Given the description of an element on the screen output the (x, y) to click on. 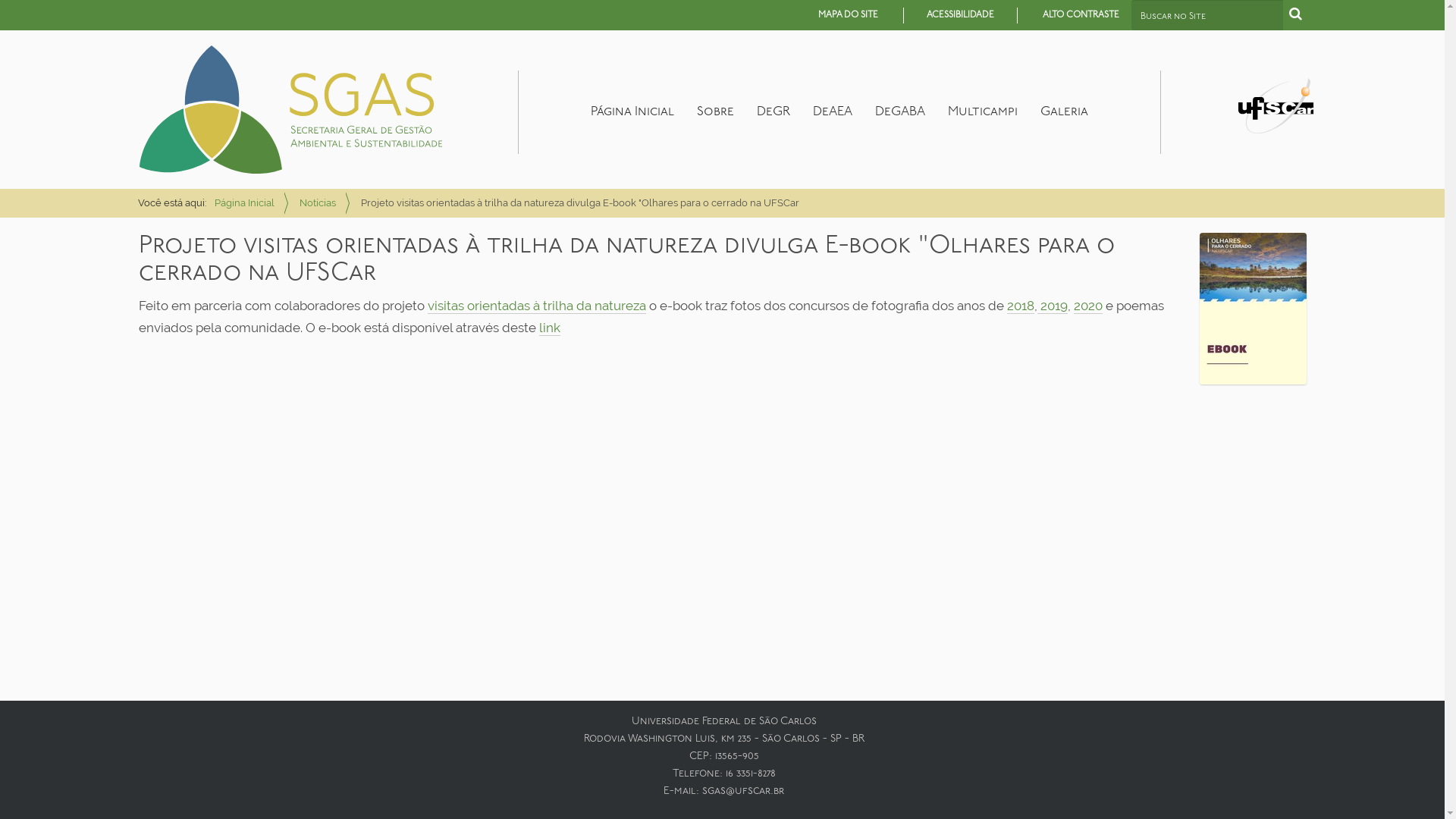
2019 Element type: text (1052, 305)
ALTO CONTRASTE Element type: text (1079, 14)
2018 Element type: text (1020, 305)
Portal UFSCar Element type: hover (1275, 104)
Buscar no Site Element type: hover (1207, 15)
DeAEA Element type: text (831, 111)
Multicampi Element type: text (981, 111)
SGAS Element type: hover (289, 109)
ACESSIBILIDADE Element type: text (960, 14)
MAPA DO SITE Element type: text (847, 14)
DeGABA Element type: text (898, 111)
link Element type: text (548, 327)
Galeria Element type: text (1063, 111)
DeGR Element type: text (772, 111)
Sobre Element type: text (715, 111)
2020 Element type: text (1087, 305)
